Given the description of an element on the screen output the (x, y) to click on. 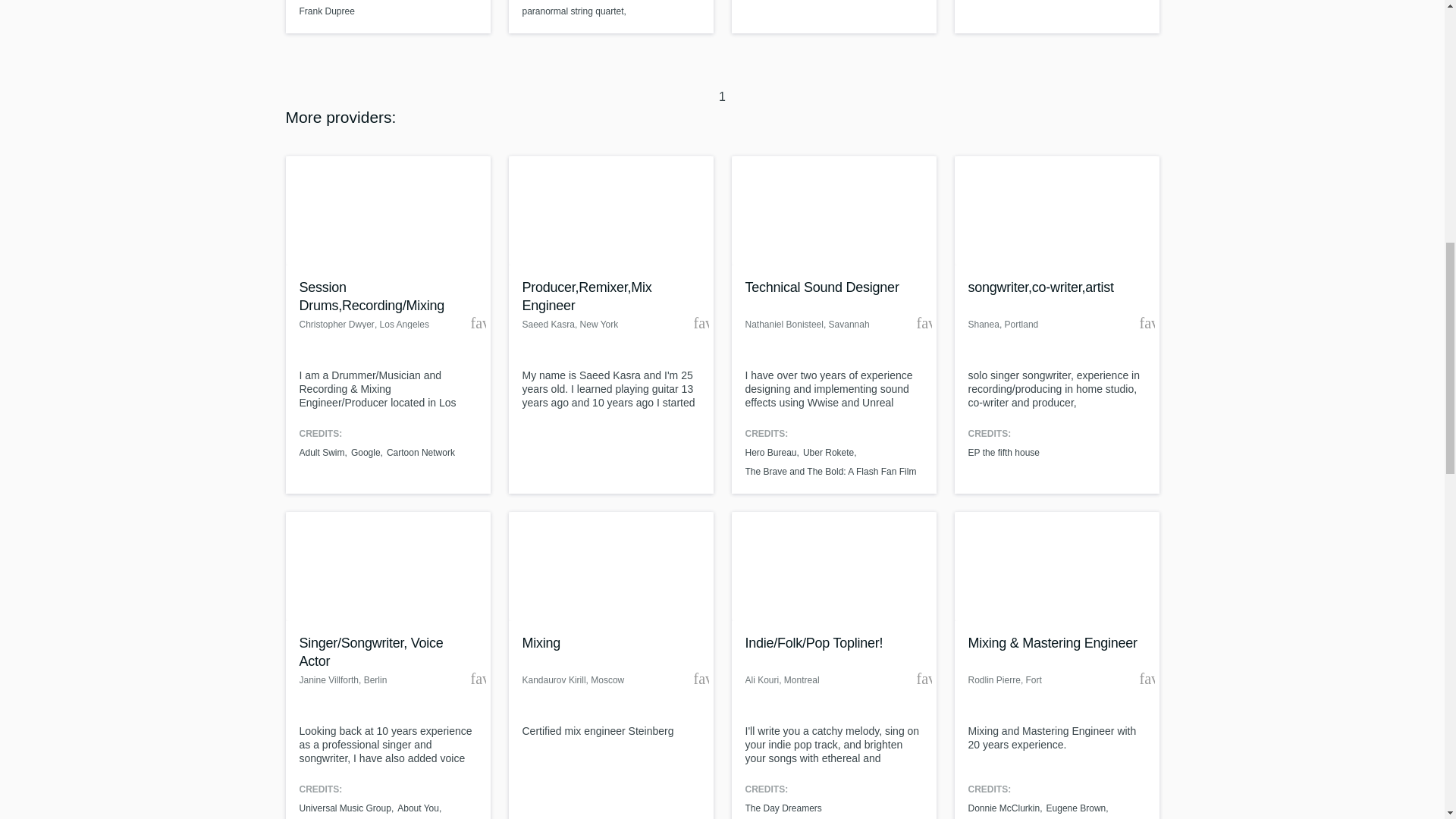
Add to favorites (700, 678)
Add to favorites (700, 322)
Add to favorites (477, 678)
Add to favorites (923, 322)
Add to favorites (477, 322)
Add to favorites (1146, 322)
